Given the description of an element on the screen output the (x, y) to click on. 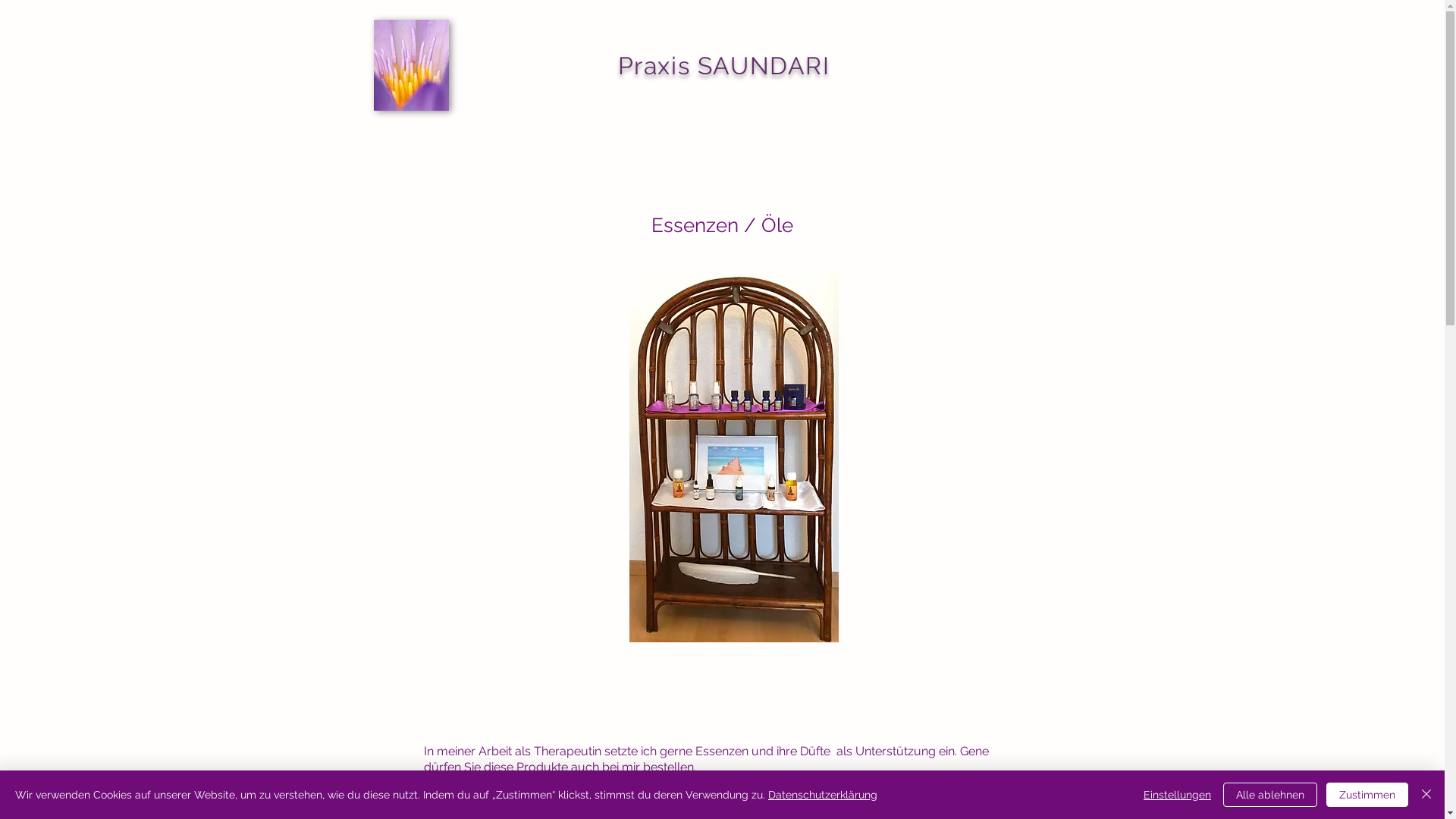
Zustimmen Element type: text (1367, 794)
Alle ablehnen Element type: text (1270, 794)
